Given the description of an element on the screen output the (x, y) to click on. 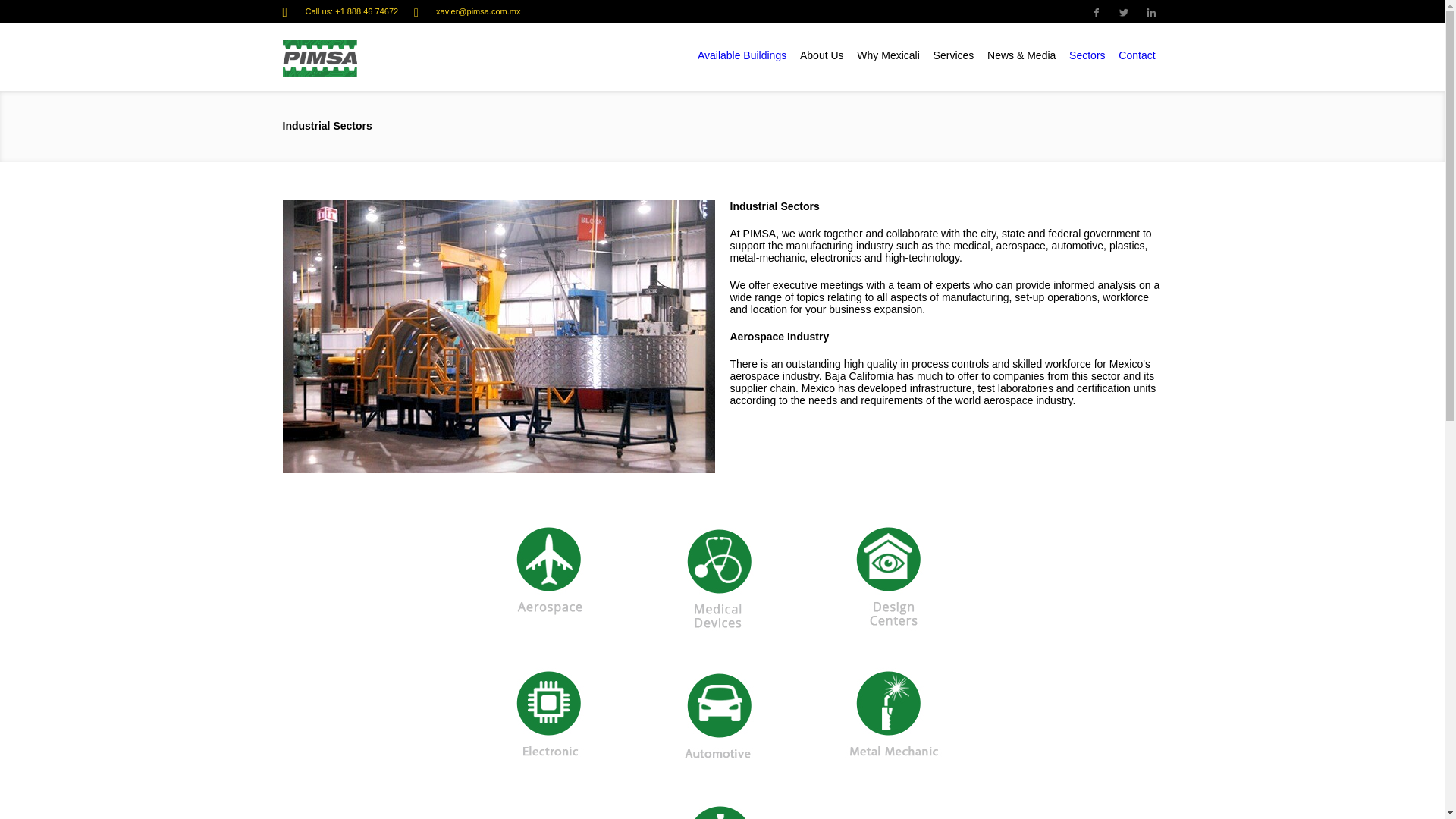
Available Buildings (741, 55)
Sectors (1086, 55)
PIMSA (366, 58)
About Us (821, 55)
Why Mexicali (887, 55)
Services (953, 55)
Contact (1136, 55)
